Given the description of an element on the screen output the (x, y) to click on. 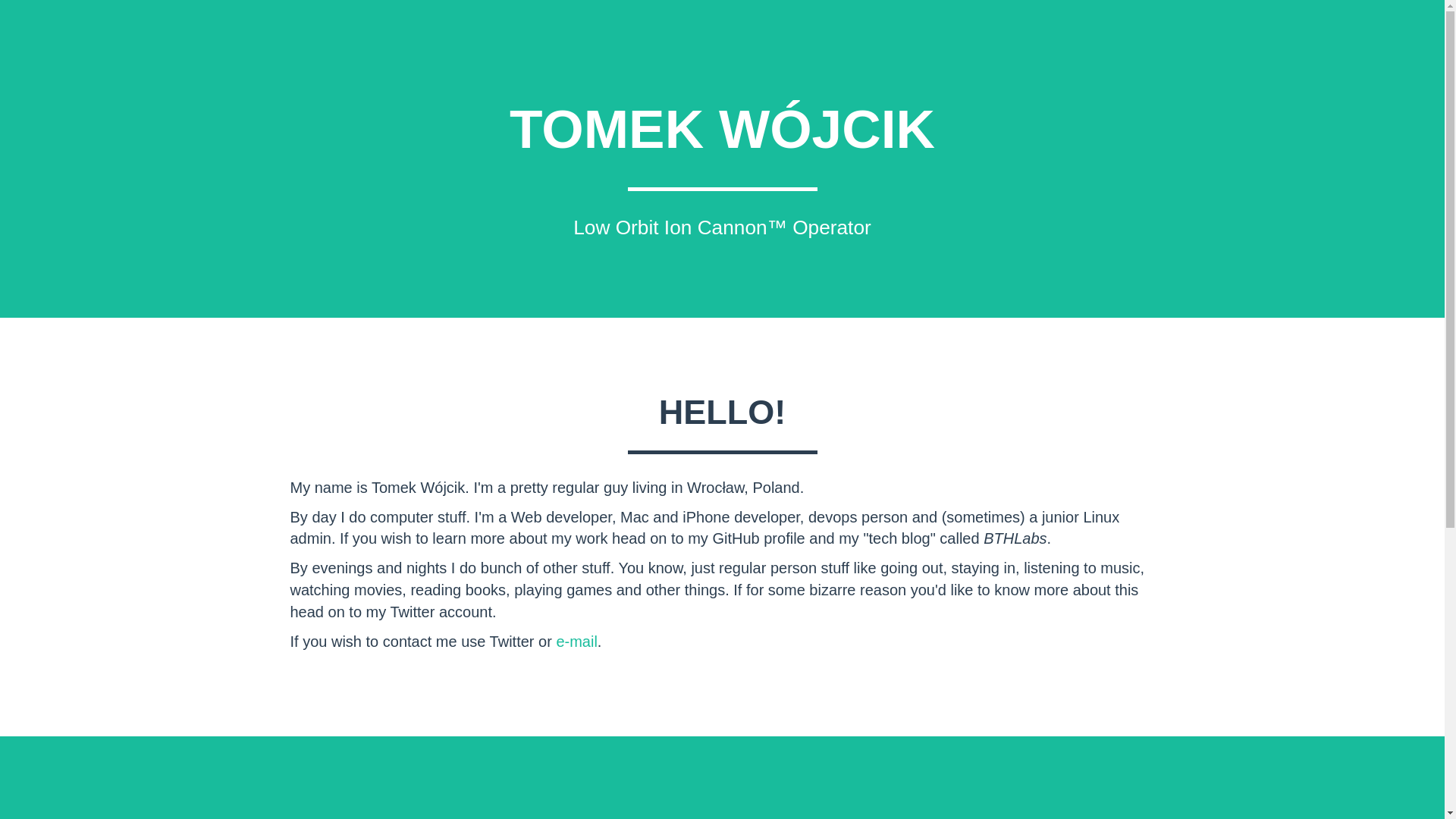
e-mail (576, 641)
